Given the description of an element on the screen output the (x, y) to click on. 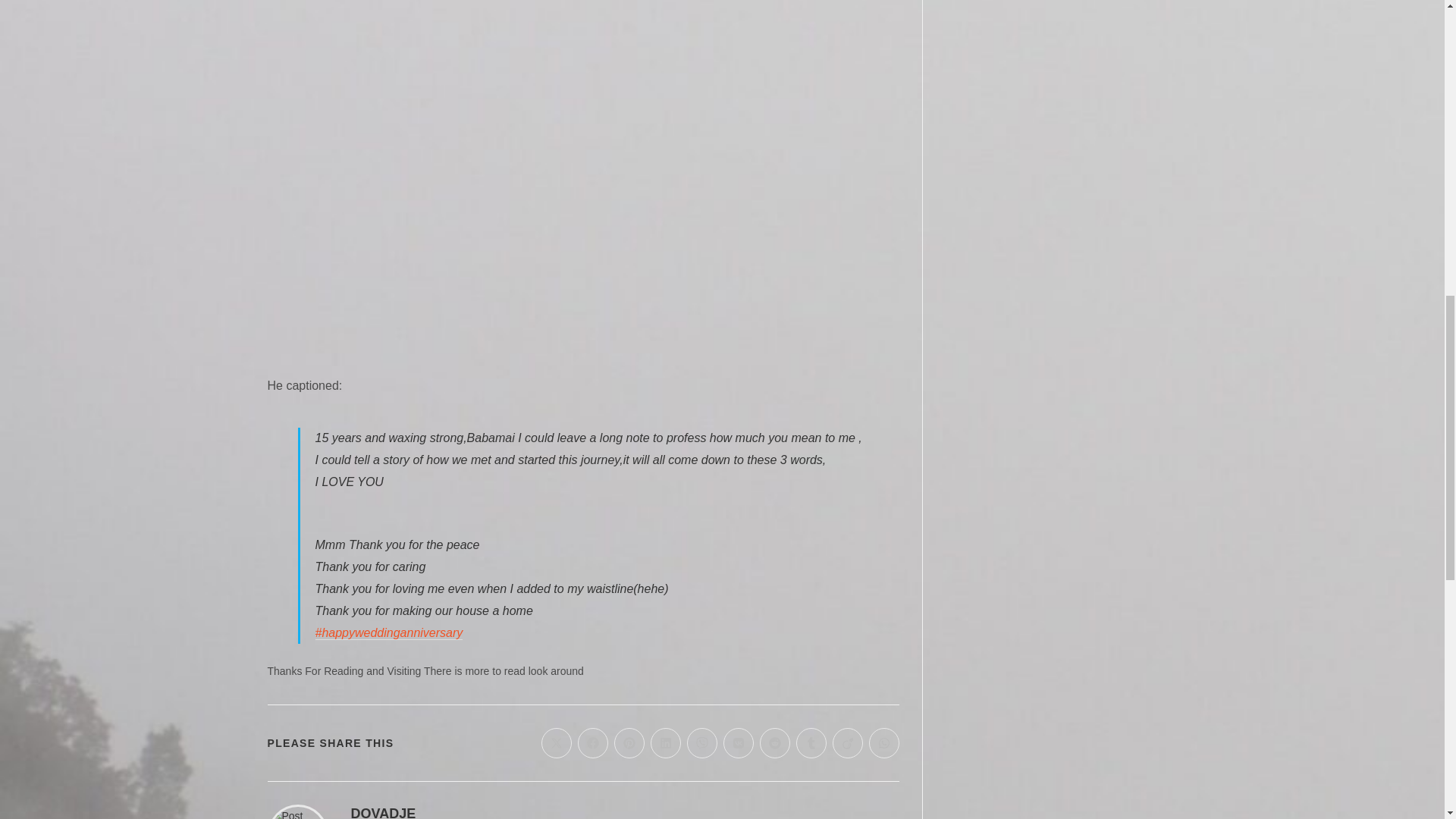
DOVADJE (382, 812)
Opens in a new window (738, 743)
Opens in a new window (593, 743)
Opens in a new window (775, 743)
Visit author page (382, 812)
Opens in a new window (556, 743)
Opens in a new window (811, 743)
Opens in a new window (702, 743)
Opens in a new window (665, 743)
Opens in a new window (884, 743)
Opens in a new window (629, 743)
Opens in a new window (847, 743)
